Given the description of an element on the screen output the (x, y) to click on. 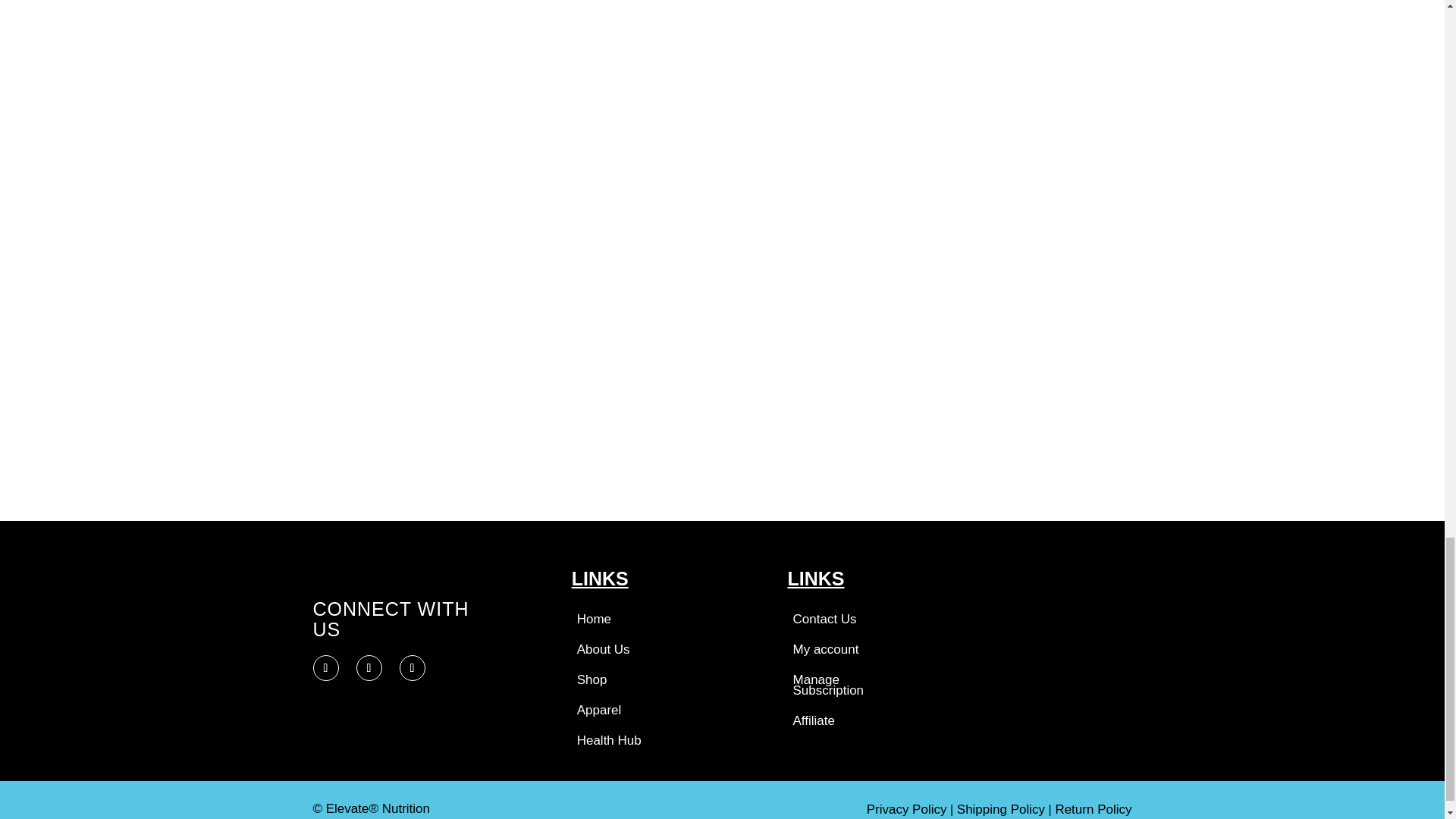
Elevate-Nutrition-Logo (398, 583)
